Given the description of an element on the screen output the (x, y) to click on. 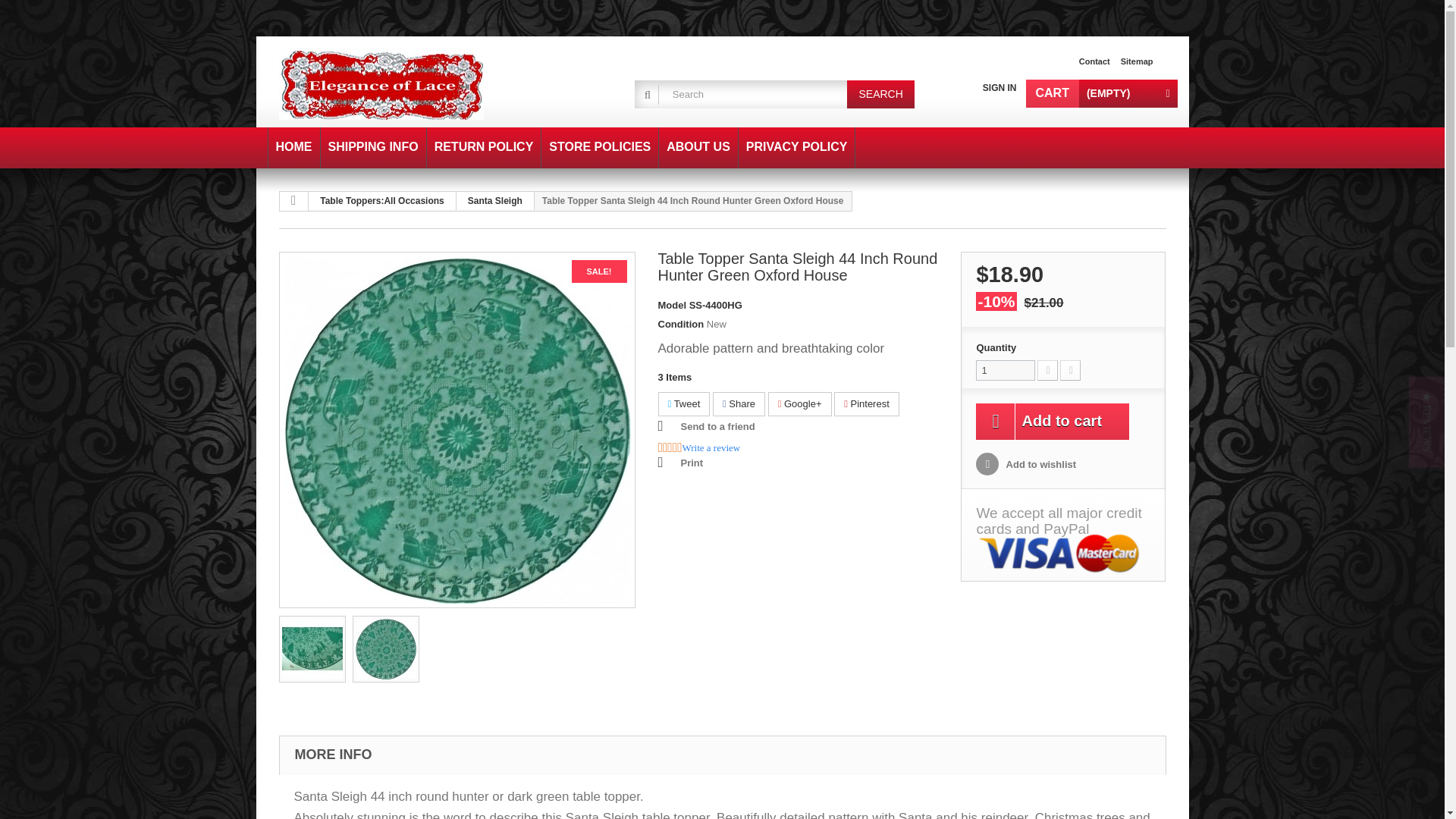
Home (293, 147)
Sitemap (1137, 61)
SIGN IN (999, 88)
sitemap (1137, 61)
Contact (1093, 61)
View my shopping cart (1100, 93)
contact (1093, 61)
1 (1005, 370)
Elegance of Lace Boutique (419, 83)
Log in to your customer account (999, 88)
SEARCH (880, 94)
HOME (293, 147)
